Given the description of an element on the screen output the (x, y) to click on. 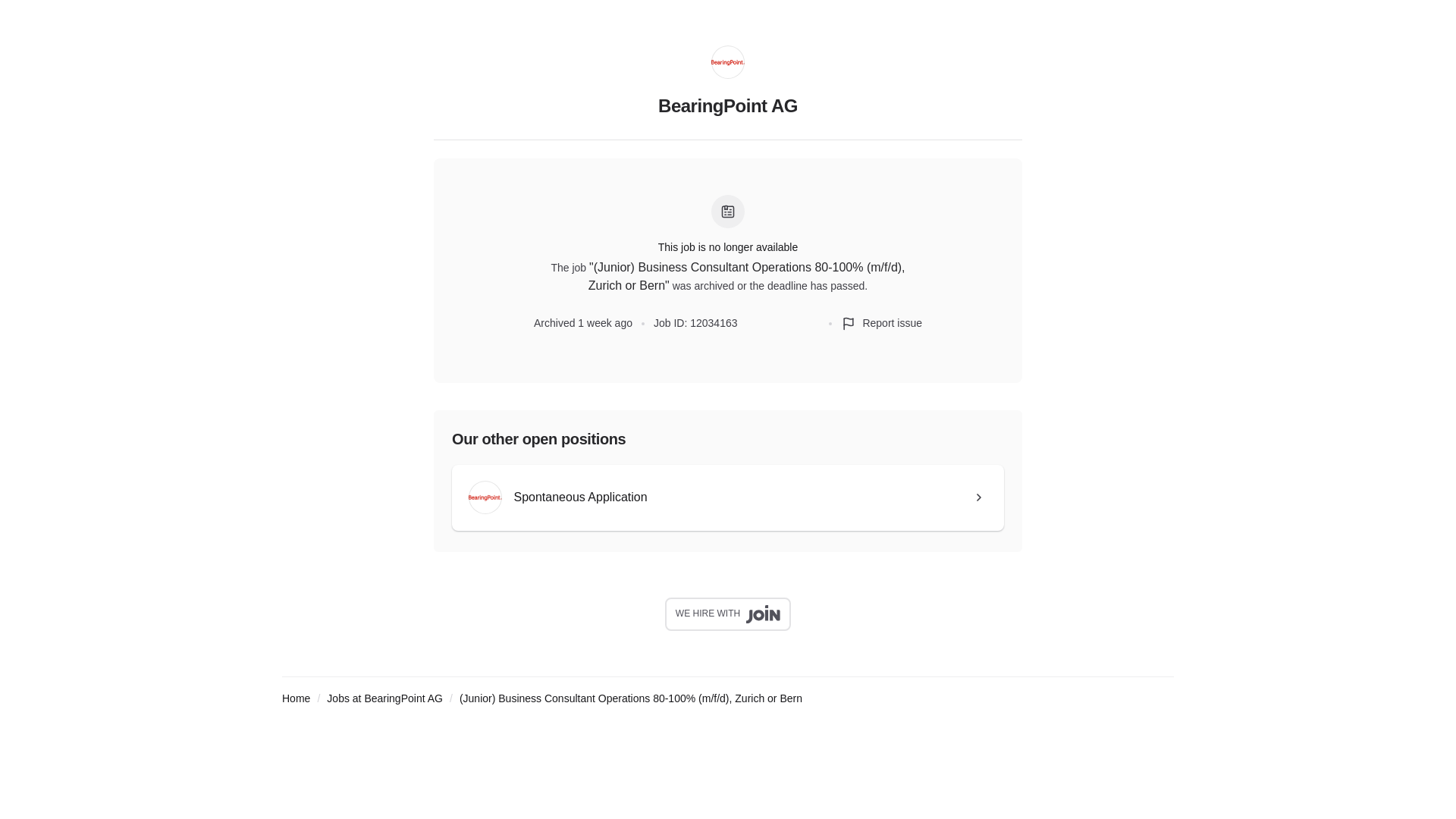
Jobs at BearingPoint AG (384, 698)
BearingPoint AG (727, 113)
WE HIRE WITH (727, 614)
Home (296, 698)
Spontaneous Application (727, 497)
